Given the description of an element on the screen output the (x, y) to click on. 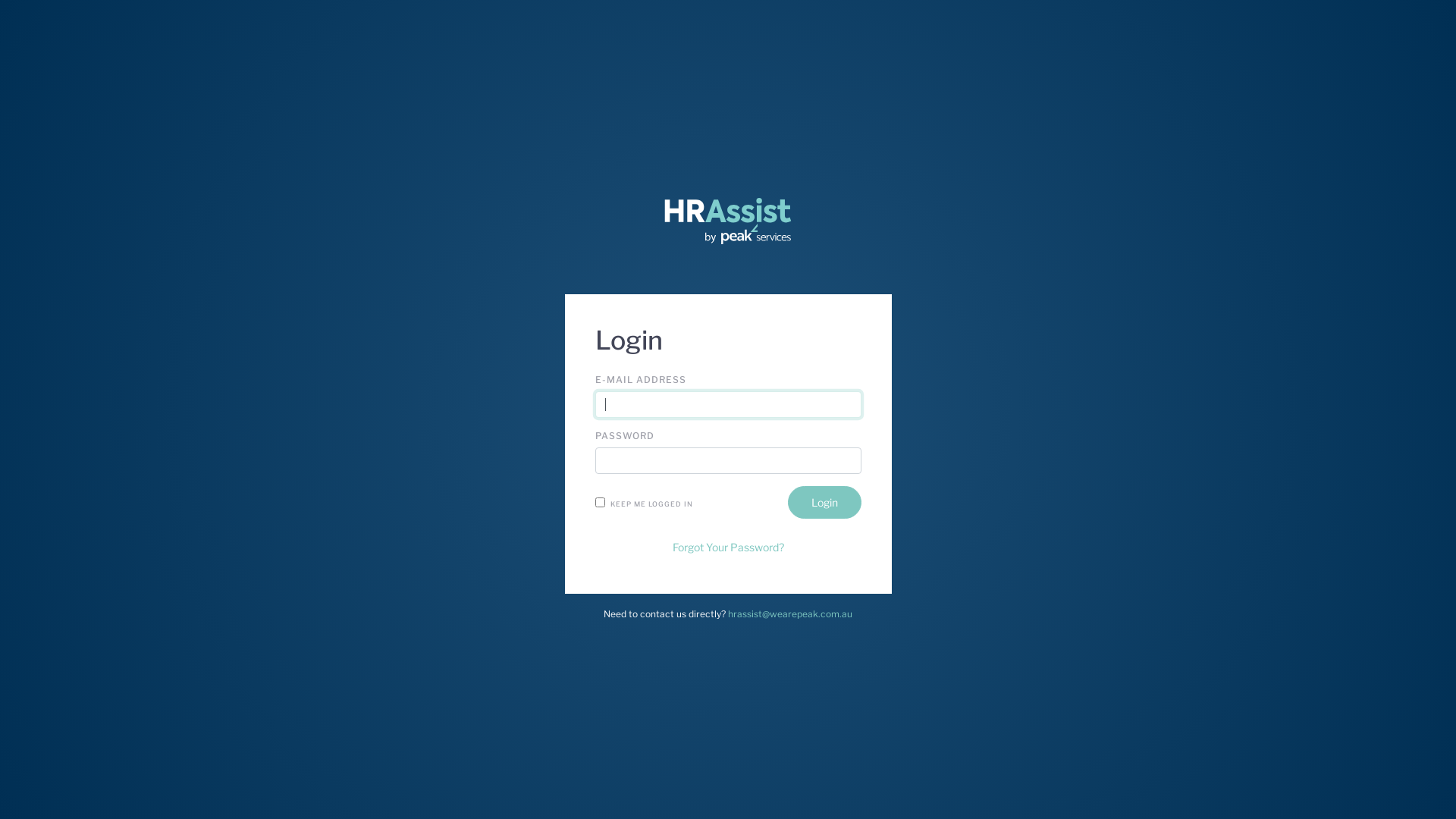
Forgot Your Password? Element type: text (727, 546)
hrassist@wearepeak.com.au Element type: text (790, 613)
Login Element type: text (823, 502)
